Given the description of an element on the screen output the (x, y) to click on. 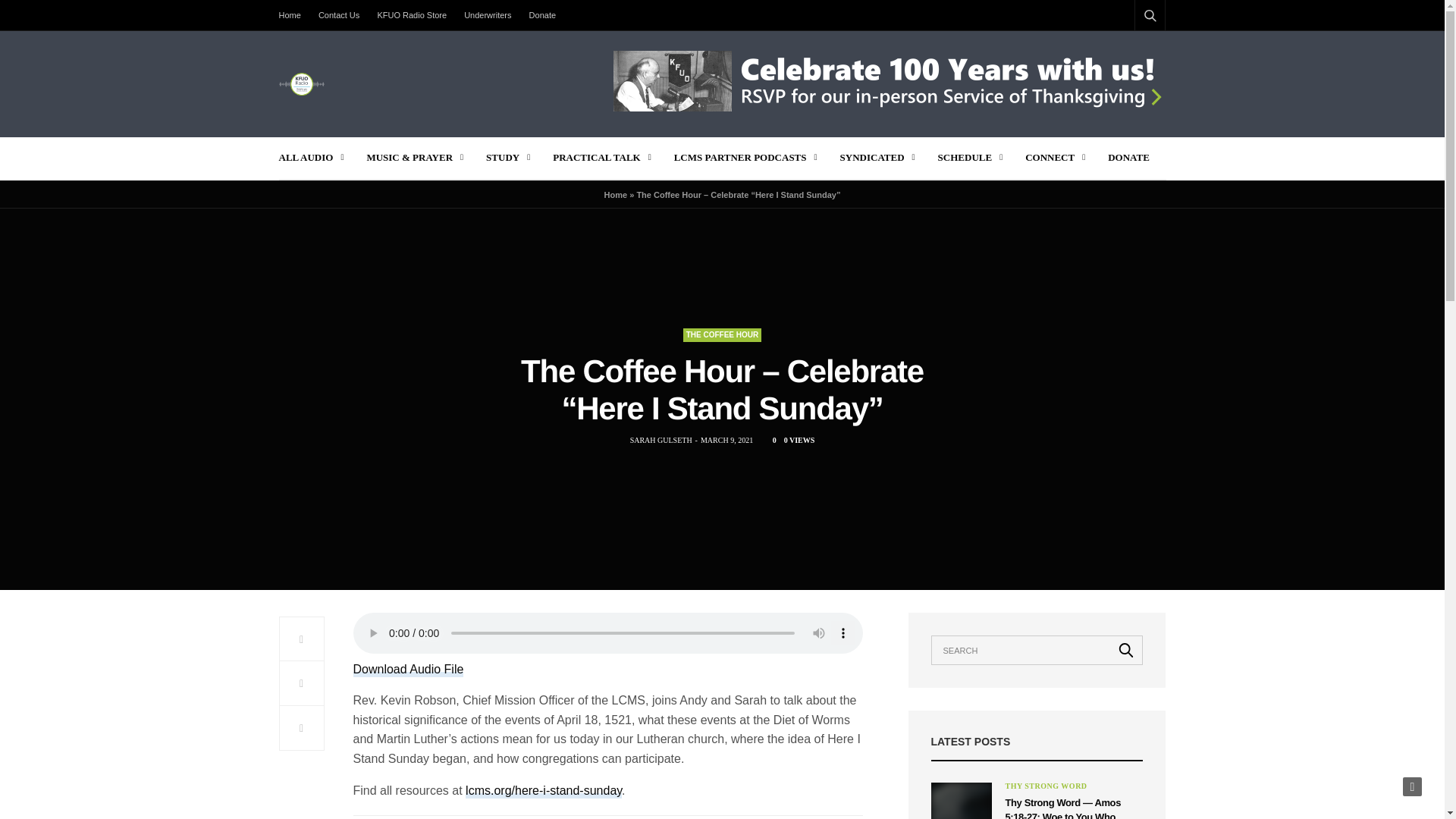
Donate (542, 15)
Search (1125, 649)
ALL AUDIO (311, 157)
Underwriters (487, 15)
The Coffee Hour (721, 335)
Home (293, 15)
Search (1129, 51)
KFUO Radio Store (411, 15)
Posts by Sarah Gulseth (661, 440)
Contact Us (338, 15)
